Given the description of an element on the screen output the (x, y) to click on. 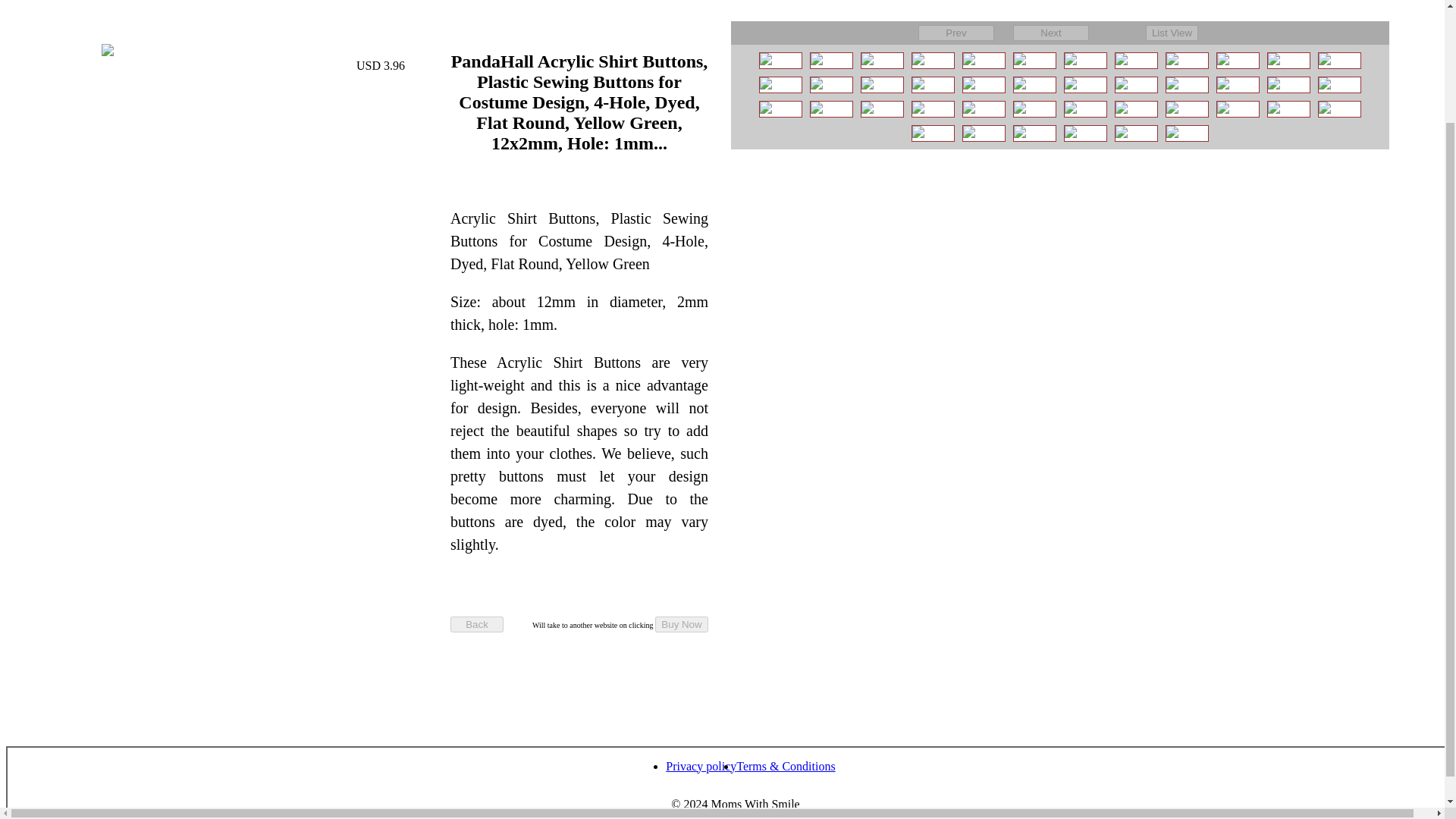
Next (1051, 32)
Buy Now (681, 624)
Prev (956, 32)
Back (476, 624)
List View (1171, 32)
